Given the description of an element on the screen output the (x, y) to click on. 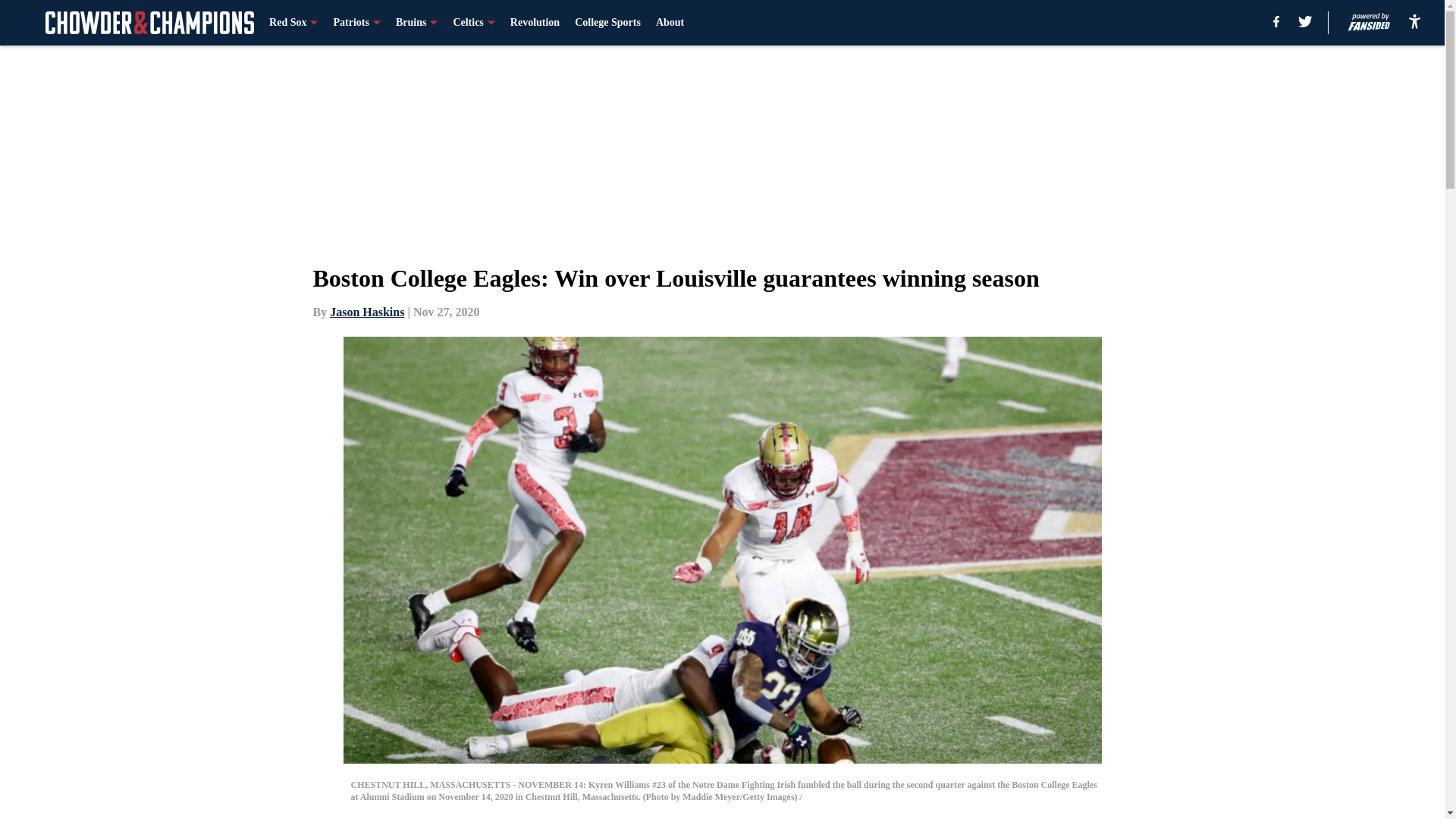
Jason Haskins (367, 311)
Revolution (535, 22)
About (670, 22)
College Sports (607, 22)
